Given the description of an element on the screen output the (x, y) to click on. 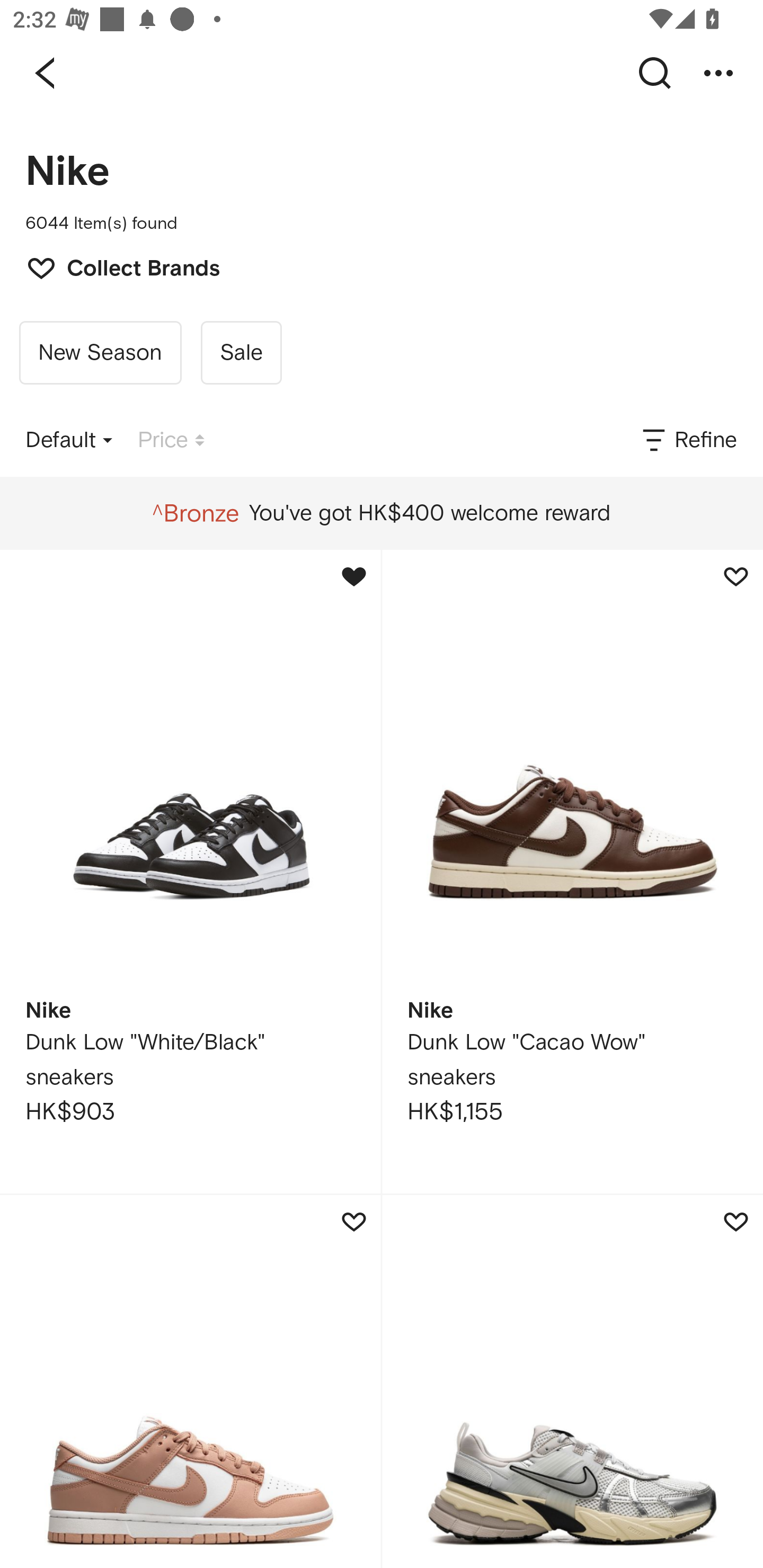
Collect Brands (114, 266)
New Season (100, 352)
Sale (240, 352)
Default (68, 440)
Price (171, 440)
Refine (688, 440)
You've got HK$400 welcome reward (381, 513)
Nike Dunk Low "White/Black" sneakers HK$903 (190, 871)
Nike Dunk Low "Cacao Wow" sneakers HK$1,155 (572, 871)
